Given the description of an element on the screen output the (x, y) to click on. 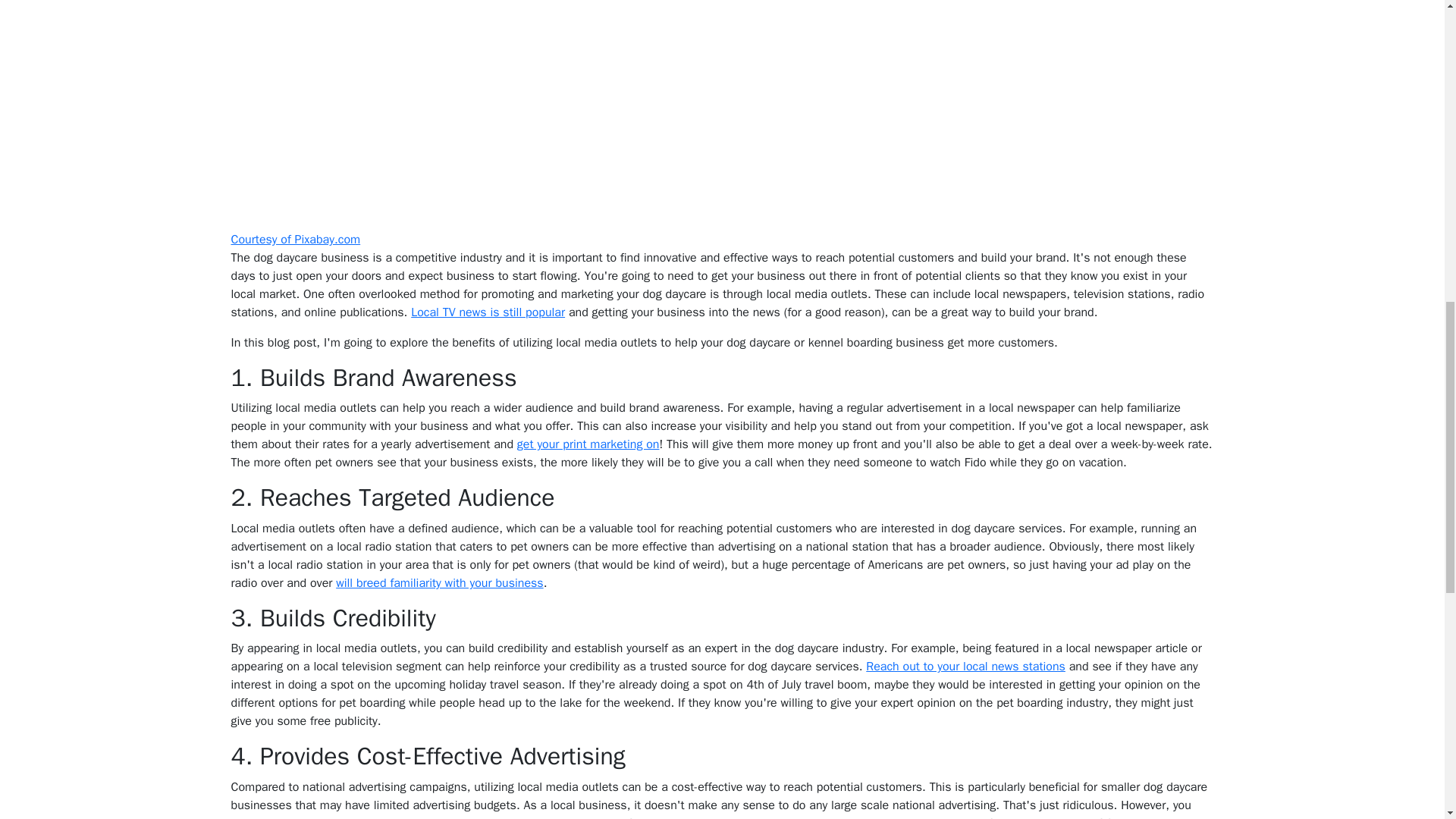
Local TV news is still popular (487, 312)
will breed familiarity with your business (439, 582)
Reach out to your local news stations (965, 666)
Courtesy of Pixabay.com (294, 239)
get your print marketing on (587, 444)
